Given the description of an element on the screen output the (x, y) to click on. 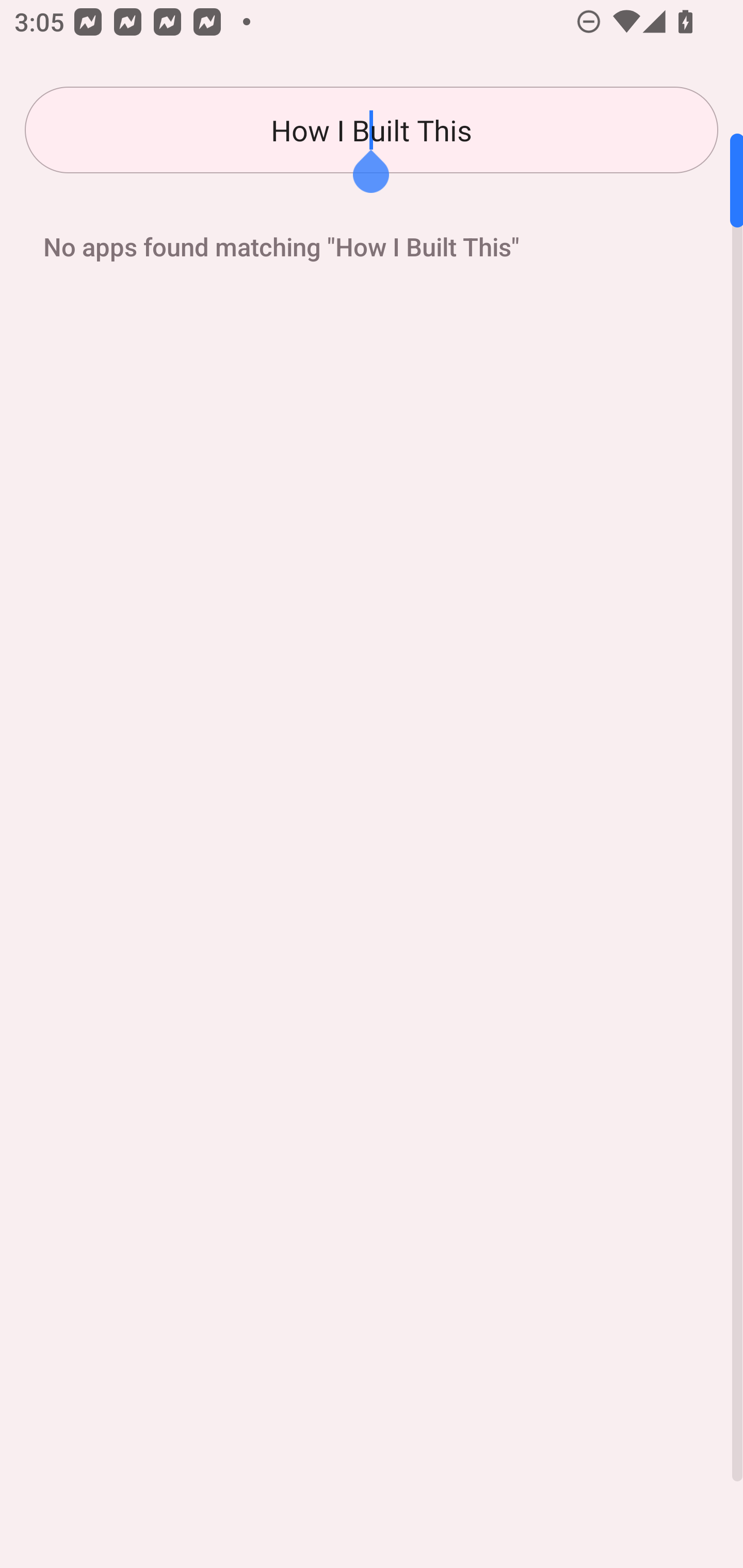
How I Built This (371, 130)
